Given the description of an element on the screen output the (x, y) to click on. 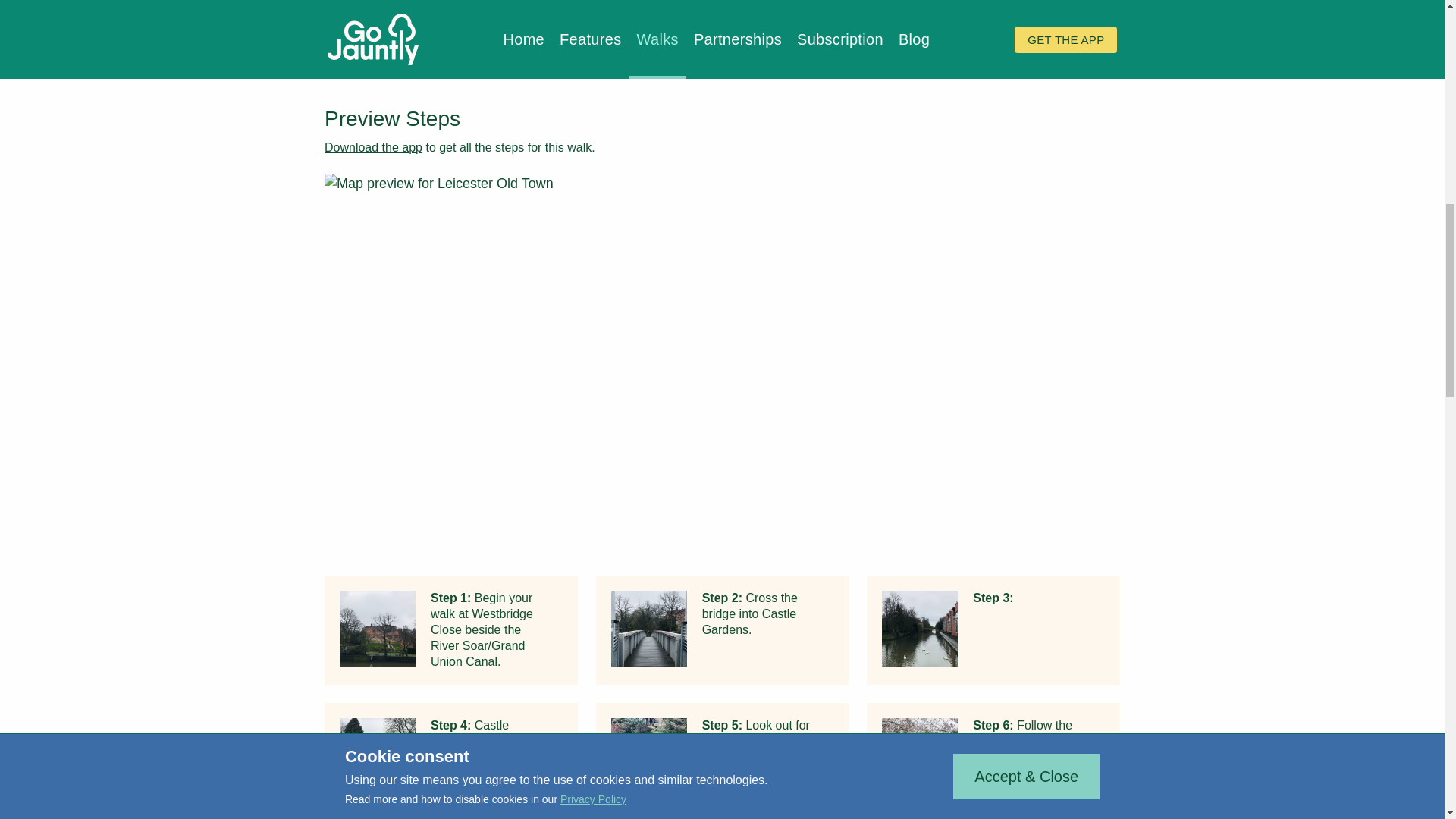
Download the app (373, 146)
Download the app (373, 146)
